Given the description of an element on the screen output the (x, y) to click on. 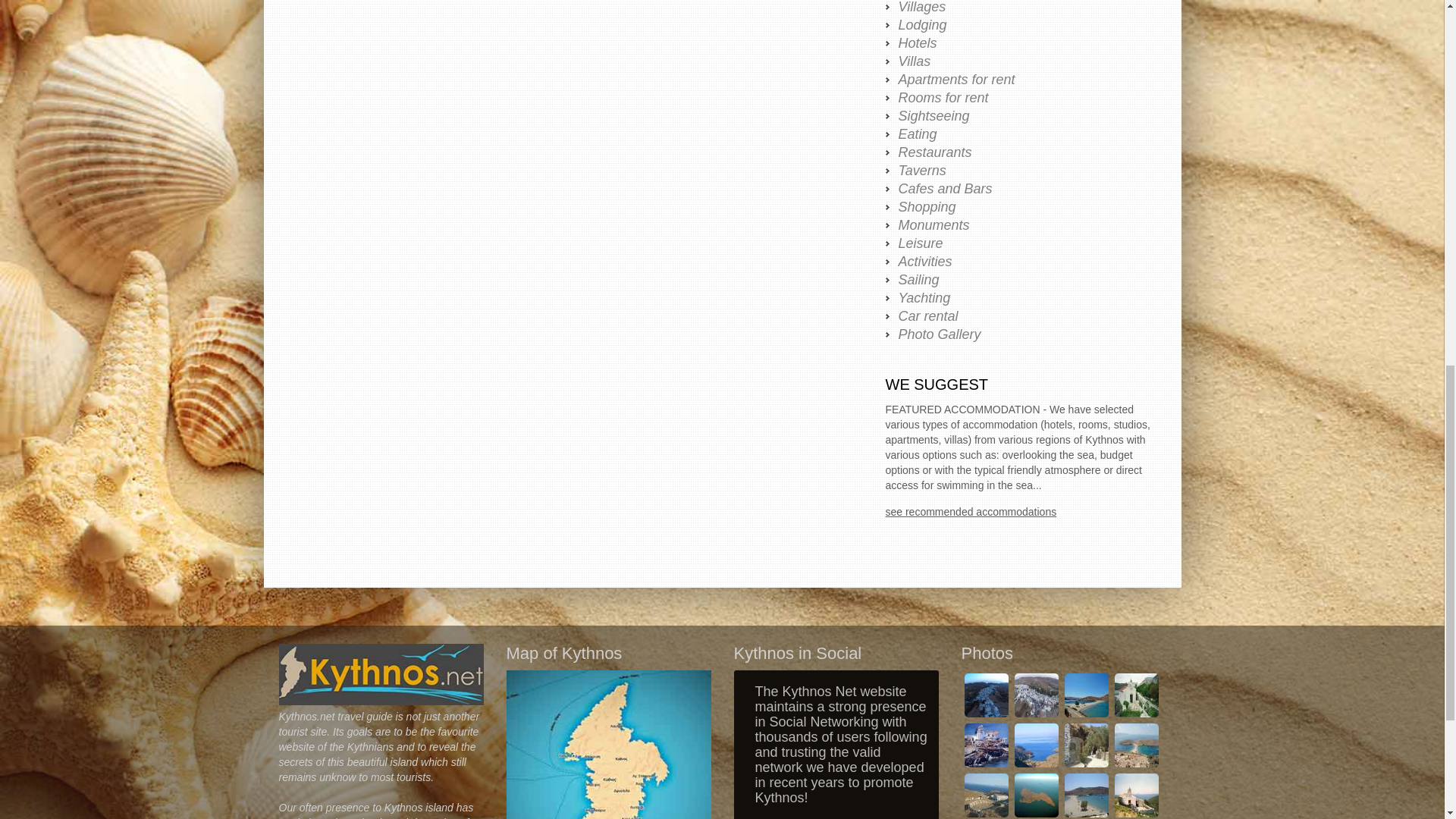
Kythnos map (608, 744)
Kythnos.Net Logo (381, 673)
Advertisement (571, 91)
